Given the description of an element on the screen output the (x, y) to click on. 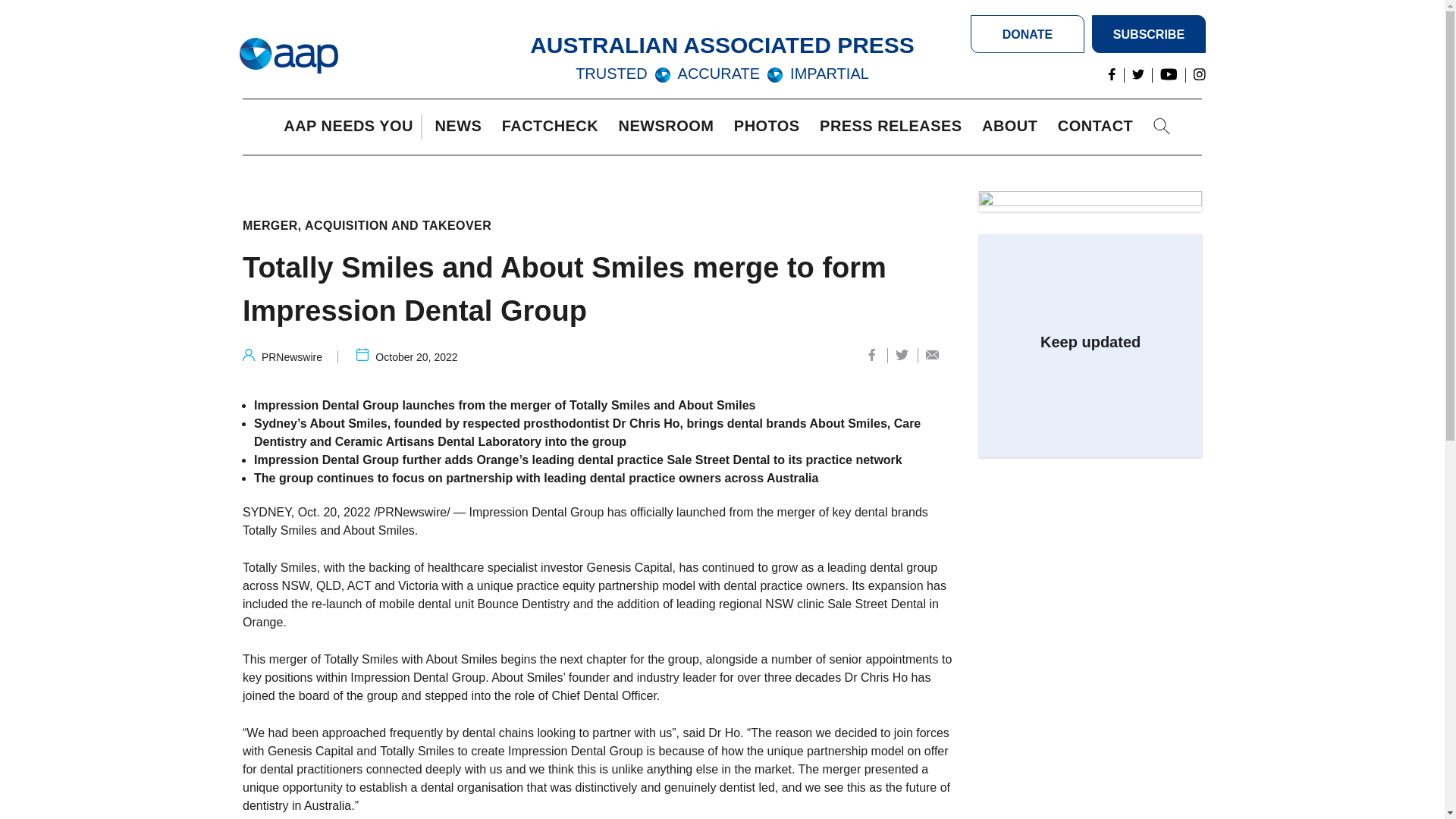
SUBSCRIBE (1148, 34)
DONATE (1027, 34)
AAP NEEDS YOU (351, 126)
ABOUT (1013, 126)
PRESS RELEASES (894, 126)
CONTACT (1099, 126)
FACTCHECK (553, 126)
NEWS (461, 126)
AUSTRALIAN ASSOCIATED PRESS (721, 44)
Home (288, 56)
